Given the description of an element on the screen output the (x, y) to click on. 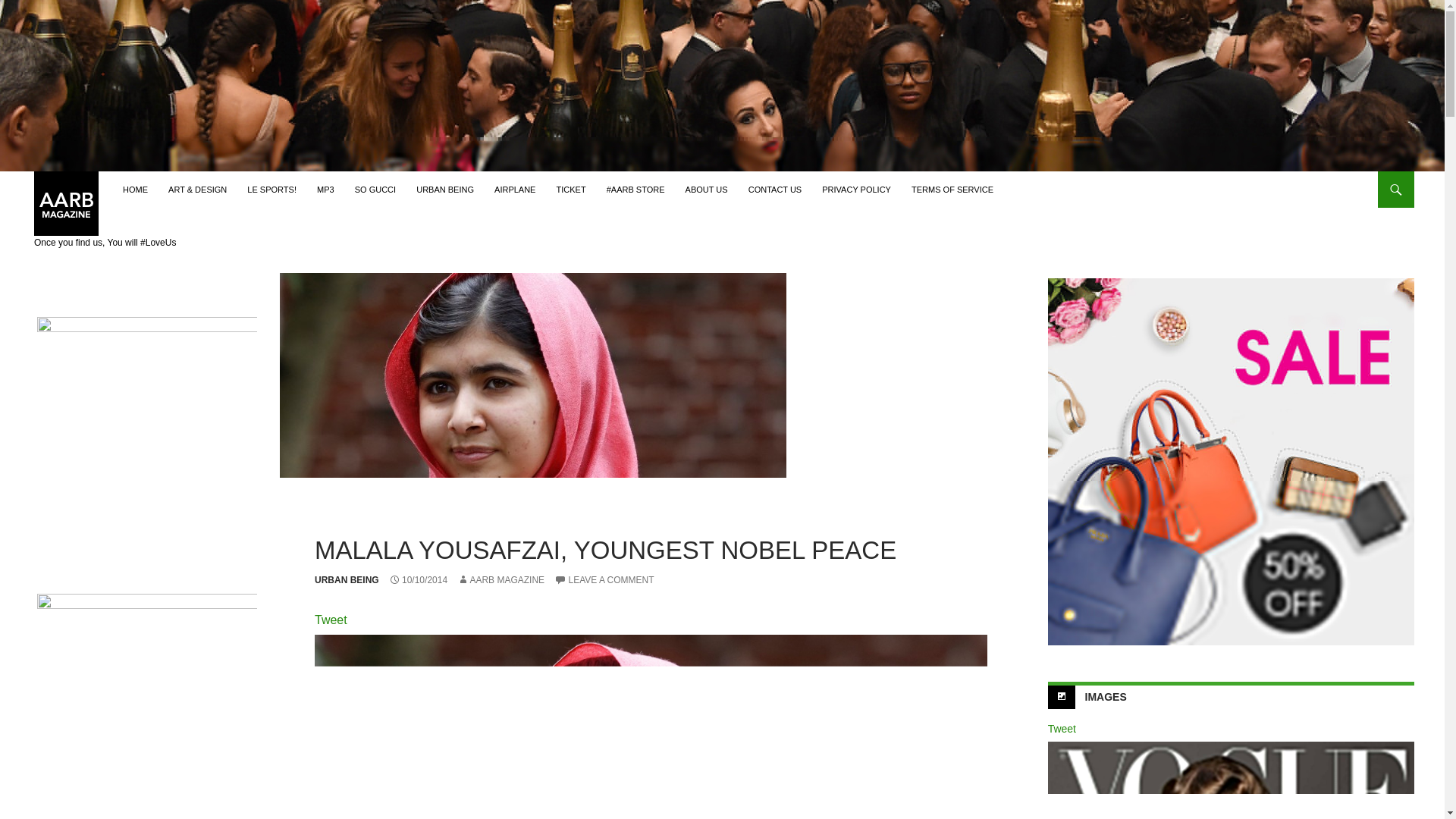
HOME (135, 189)
URBAN BEING (346, 579)
IMAGES (1105, 695)
TICKET (571, 189)
Search (23, 180)
MP3 (325, 189)
ABOUT US (706, 189)
TERMS OF SERVICE (952, 189)
URBAN BEING (445, 189)
LE SPORTS! (271, 189)
AIRPLANE (514, 189)
Shop NEW ARRIVALS on AARB Store (147, 426)
SO GUCCI (375, 189)
PRIVACY POLICY (855, 189)
AARB MAGAZINE (500, 579)
